Given the description of an element on the screen output the (x, y) to click on. 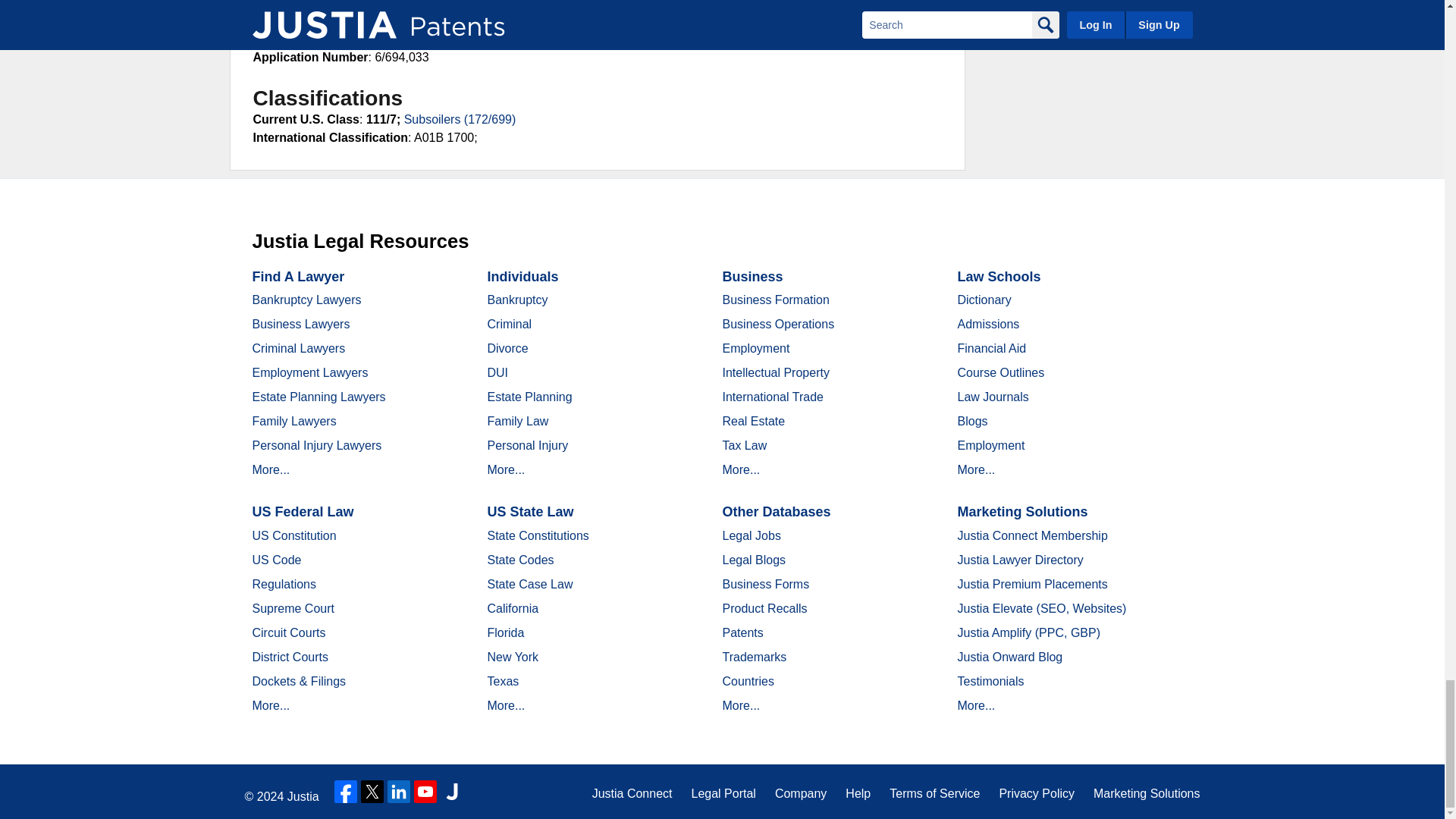
Twitter (372, 791)
Facebook (345, 791)
LinkedIn (398, 791)
Justia Lawyer Directory (452, 791)
YouTube (424, 791)
